Given the description of an element on the screen output the (x, y) to click on. 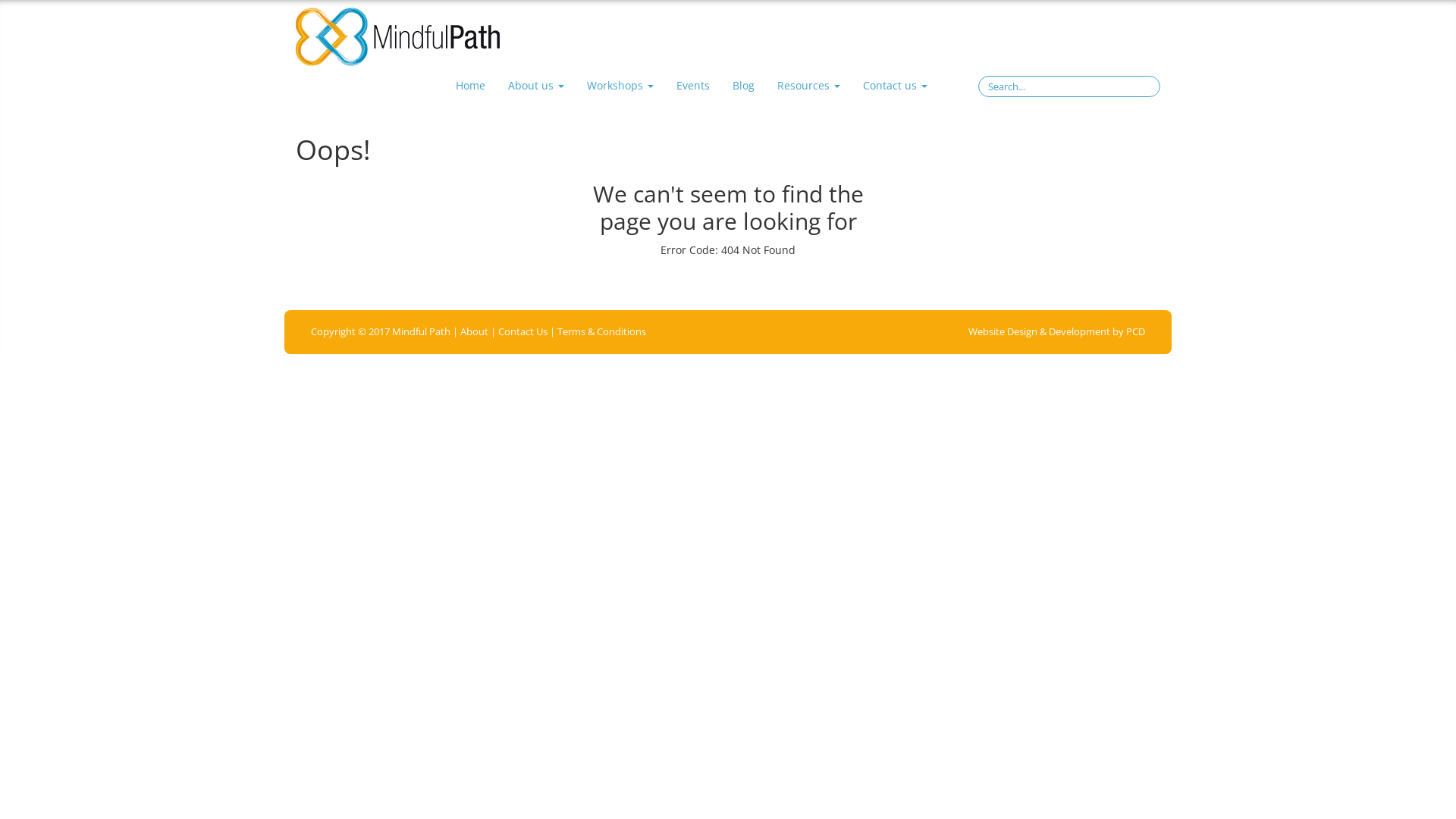
Events Element type: text (692, 85)
MindfulPath Element type: hover (397, 36)
About Element type: text (474, 331)
Contact Us Element type: text (522, 331)
Contact us Element type: text (894, 85)
About us Element type: text (534, 85)
Resources Element type: text (808, 85)
Blog Element type: text (742, 85)
Home Element type: text (470, 85)
Website Design & Development by PCD Element type: text (1056, 331)
Workshops Element type: text (619, 85)
Terms & Conditions Element type: text (601, 331)
